Given the description of an element on the screen output the (x, y) to click on. 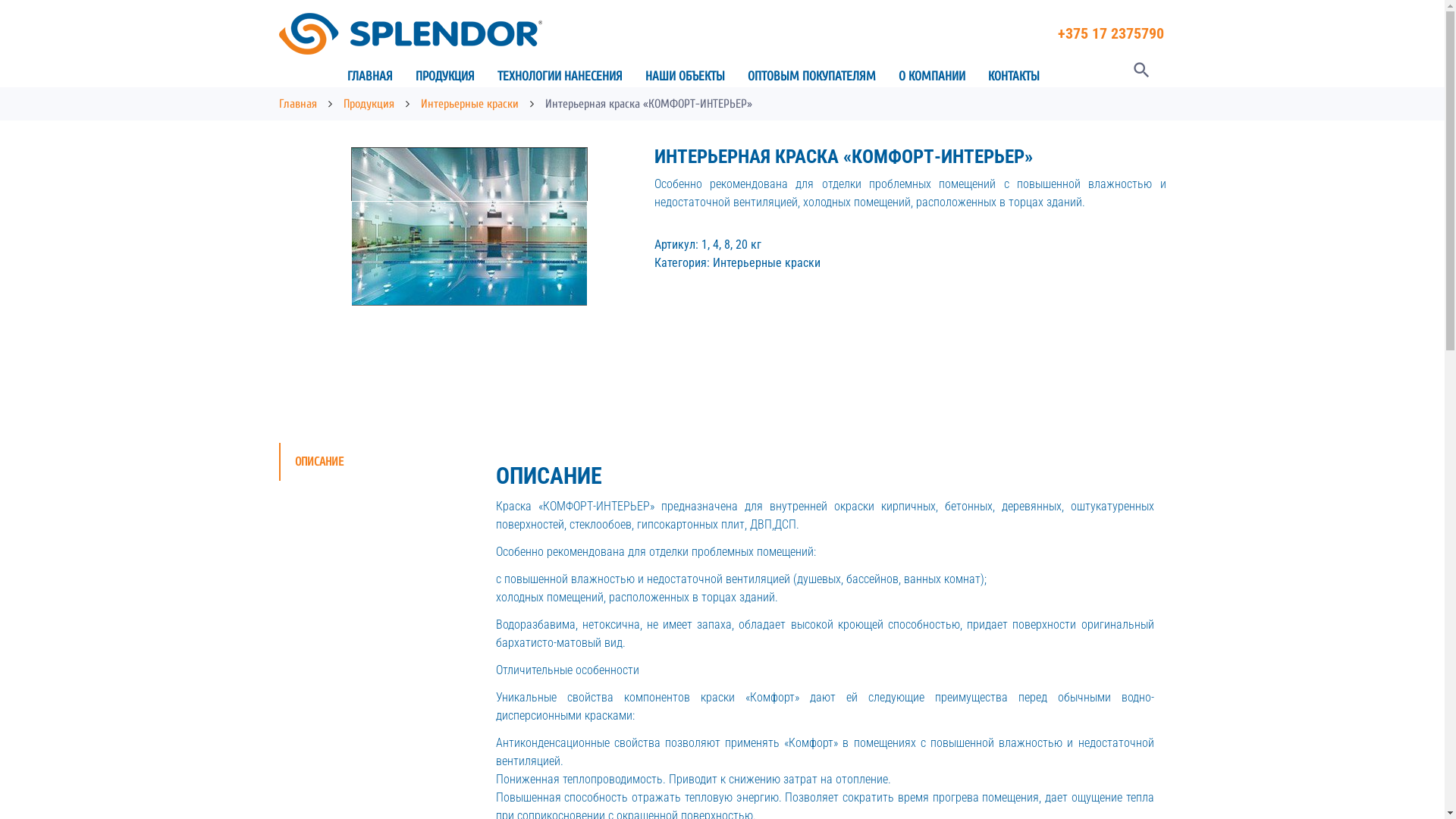
+375 17 2375790 Element type: text (1110, 33)
